Given the description of an element on the screen output the (x, y) to click on. 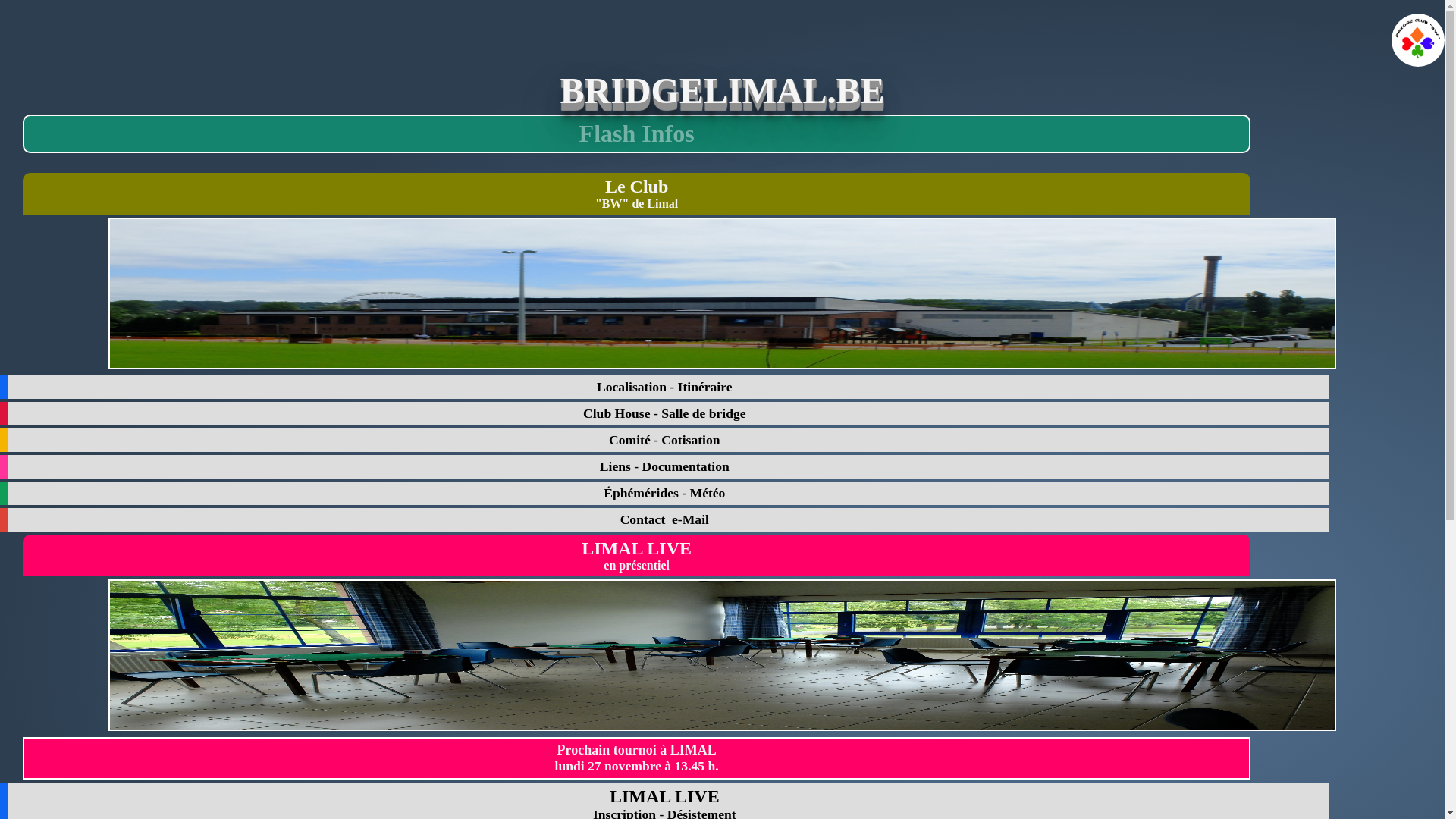
Club House - Salle de bridge Element type: text (664, 413)
Liens - Documentation Element type: text (664, 466)
Contact  e-Mail Element type: text (664, 519)
Flash Infos Element type: text (636, 136)
